Given the description of an element on the screen output the (x, y) to click on. 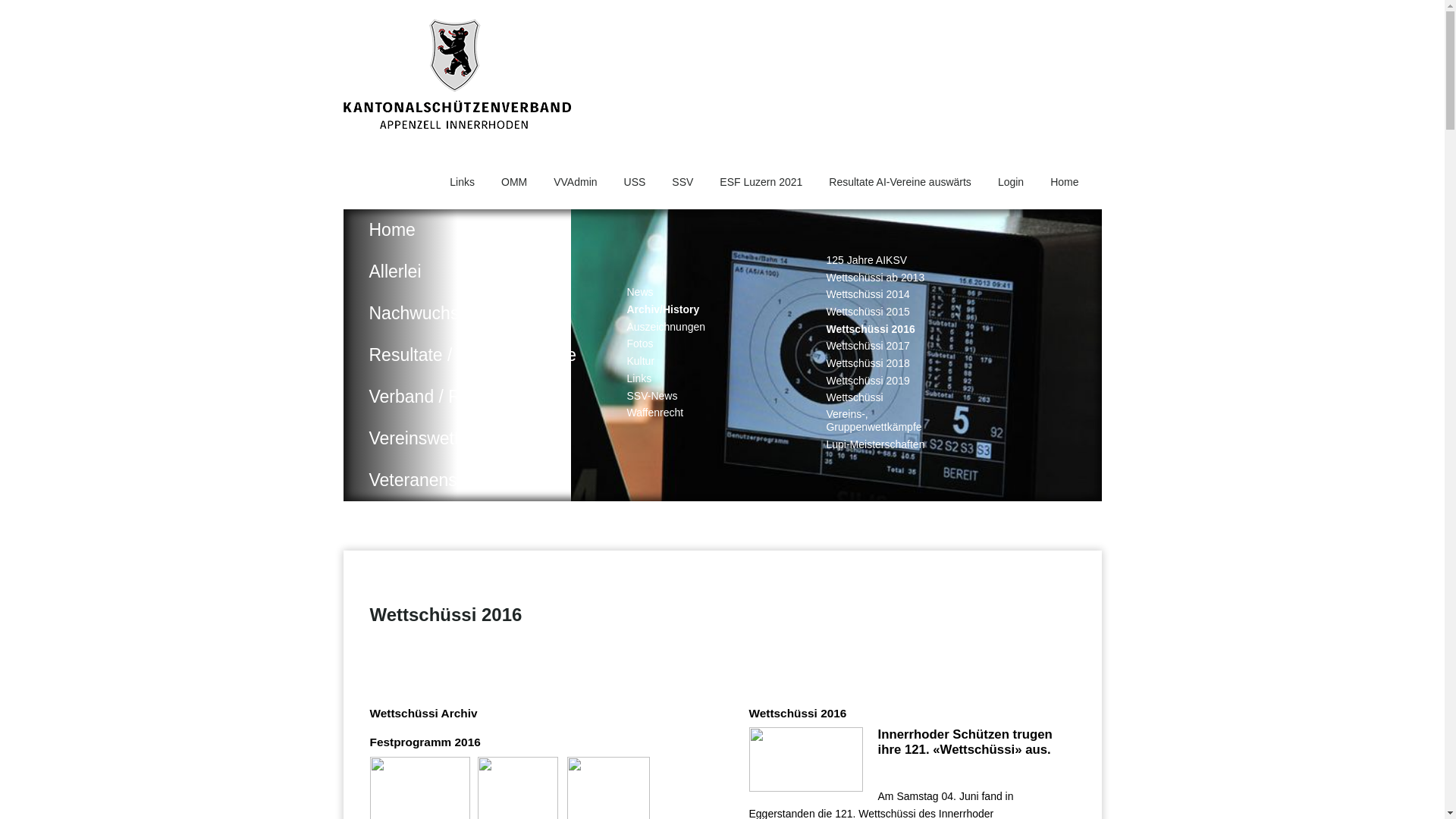
OMM Element type: text (514, 181)
Archiv/History Element type: text (649, 309)
Links Element type: text (461, 181)
Kultur Element type: text (627, 360)
ESF Luzern 2021 Element type: text (760, 181)
USS Element type: text (635, 181)
SSV-News Element type: text (638, 395)
125 Jahre AIKSV Element type: text (847, 260)
Resultate / Medienberichte Element type: text (471, 355)
Home Element type: text (471, 230)
VVAdmin Element type: text (574, 181)
Nachwuchs Element type: text (471, 313)
Home Element type: text (1064, 181)
Waffenrecht Element type: text (641, 412)
News Element type: text (626, 291)
SSV Element type: text (682, 181)
Allerlei Element type: text (471, 271)
Login Element type: text (1010, 181)
Links Element type: text (625, 378)
Auszeichnungen Element type: text (652, 326)
Lupi-Meisterschaften Element type: text (847, 444)
Veteranensektion Element type: text (471, 480)
Fotos Element type: text (626, 343)
Verband / Reglemente Element type: text (471, 396)
